Given the description of an element on the screen output the (x, y) to click on. 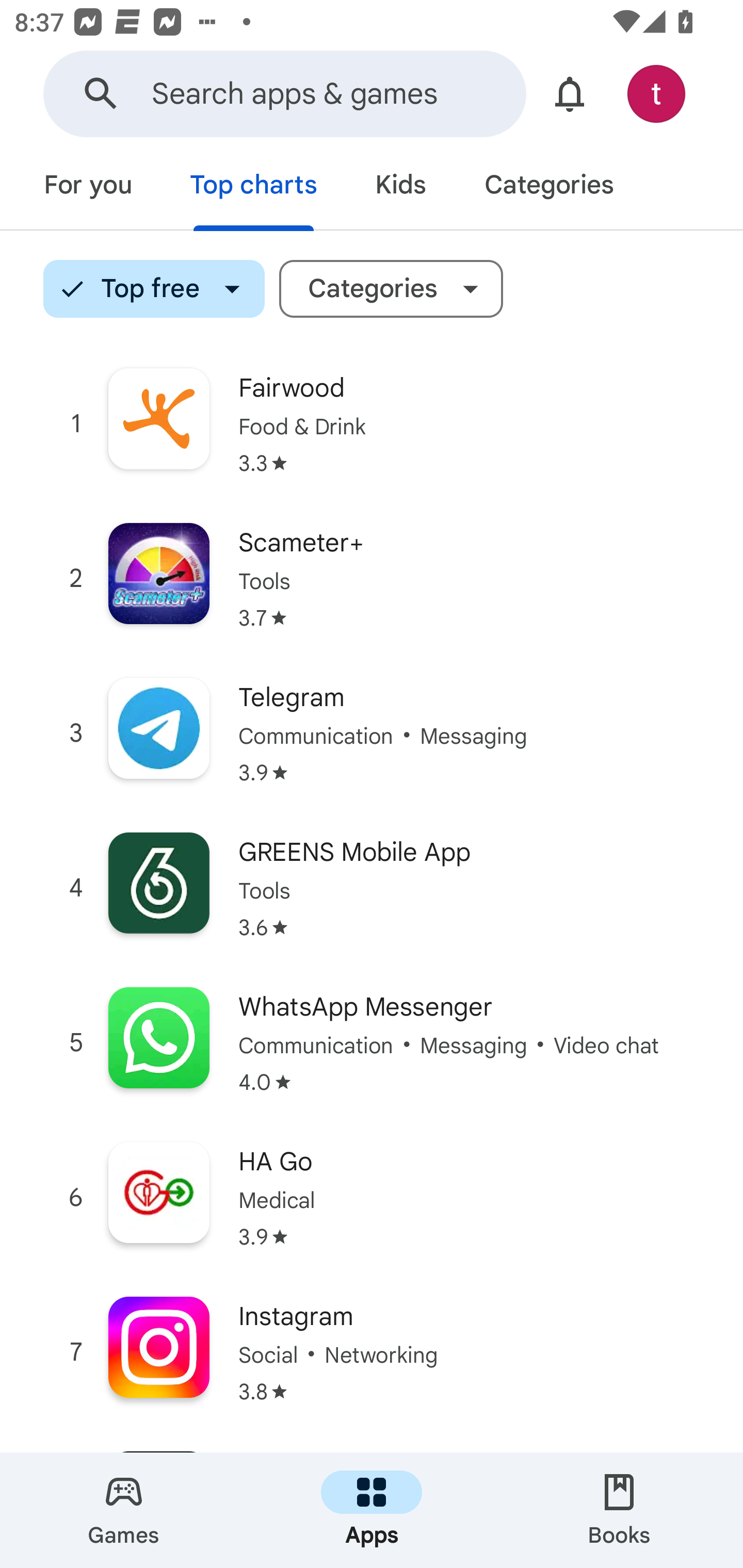
Search Google Play Search apps & games (284, 93)
Search Google Play (100, 93)
Show notifications and offers. (569, 93)
For you (87, 187)
Kids (400, 187)
Categories (548, 187)
Categories - double tap to change the filter (391, 289)
1 Fairwood
Food & Drink
Star rating: 3.3
 (371, 423)
2 Scameter+
Tools
Star rating: 3.7
 (371, 578)
4 GREENS Mobile App
Tools
Star rating: 3.6
 (371, 887)
6 HA Go
Medical
Star rating: 3.9
 (371, 1196)
7 Instagram
Social
Networking
Star rating: 3.8
 (371, 1352)
Games (123, 1509)
Books (619, 1509)
